Given the description of an element on the screen output the (x, y) to click on. 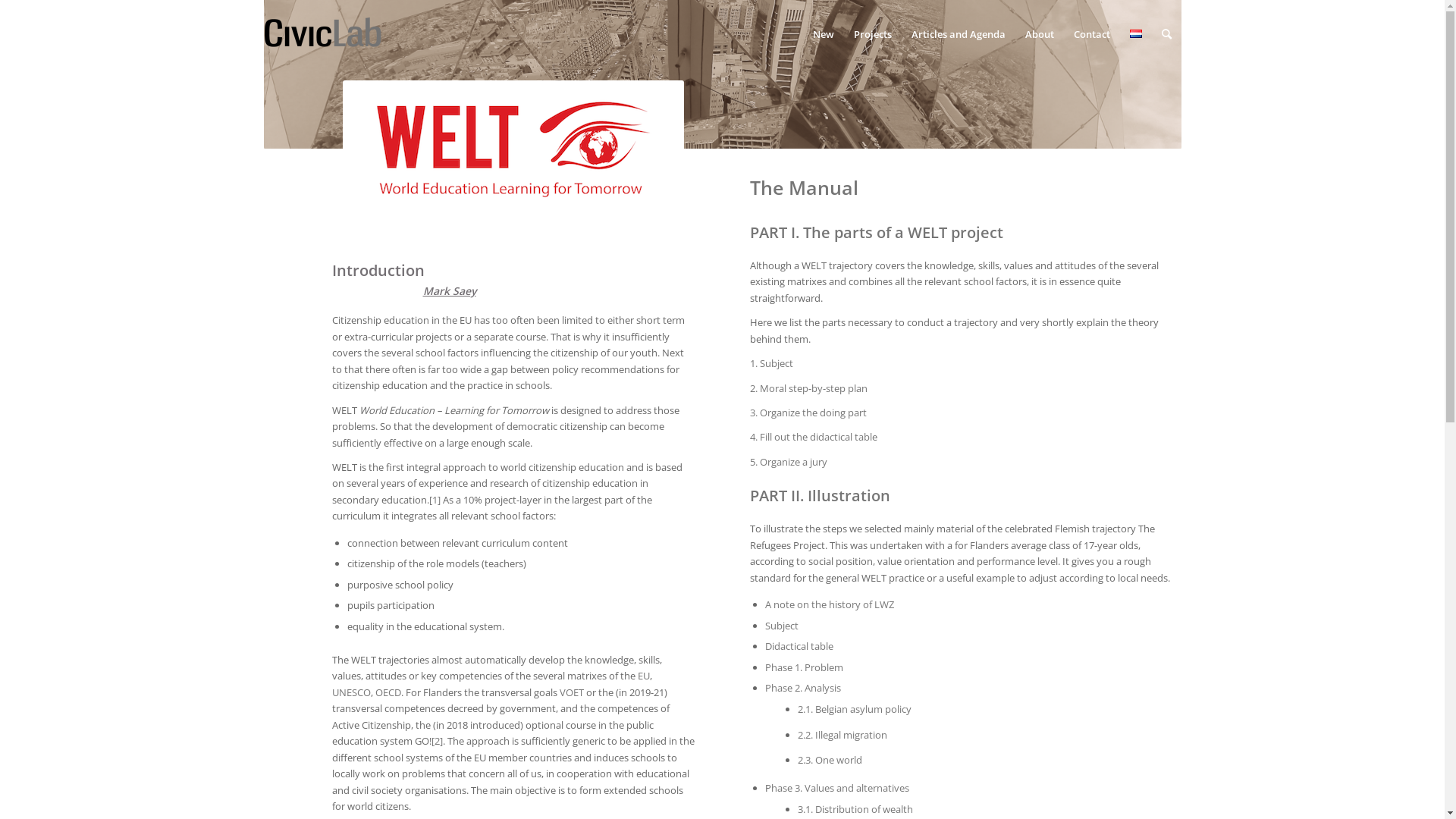
2.3. One world Element type: text (829, 759)
World Education Learning for Tomorrow | Civiclab Element type: hover (513, 148)
3. Organize the doing part Element type: text (807, 412)
2. Moral step-by-step plan Element type: text (808, 388)
Mark Saey Element type: text (449, 290)
3.1. Distribution of wealth Element type: text (855, 808)
Phase 2. Analysis Element type: text (802, 687)
2.2. Illegal migration Element type: text (842, 734)
5. Organize a jury Element type: text (788, 461)
New Element type: text (822, 34)
Mark Saey | Civiclab Element type: hover (322, 23)
OECD Element type: text (387, 692)
Articles and Agenda Element type: text (957, 34)
Projects Element type: text (871, 34)
UNESCO Element type: text (351, 692)
[1] Element type: text (434, 499)
Contact Element type: text (1091, 34)
Phase 1. Problem Element type: text (804, 667)
hase 3. Values and alternatives Element type: text (840, 787)
Subject Element type: text (781, 625)
Mark Saey | Civiclab Element type: hover (322, 34)
EU Element type: text (643, 675)
1. Subject Element type: text (771, 363)
A note on the history of LWZ Element type: text (829, 604)
VOET Element type: text (571, 692)
2.1. Belgian asylum policy Element type: text (854, 708)
Didactical table Element type: text (799, 645)
4. Fill out the didactical table Element type: text (813, 436)
About Element type: text (1038, 34)
[2] Element type: text (436, 740)
